Given the description of an element on the screen output the (x, y) to click on. 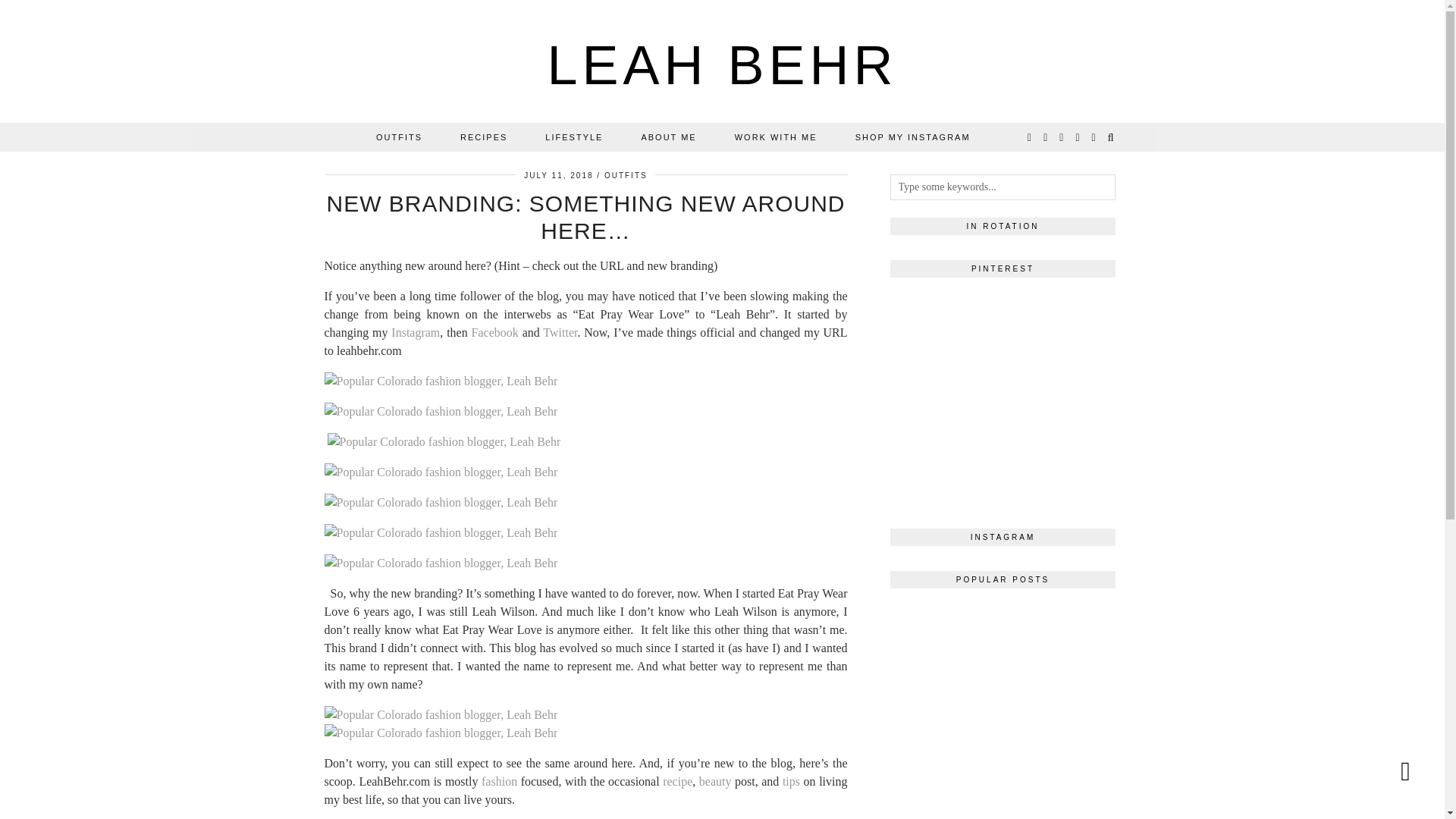
recipe (677, 780)
tips (791, 780)
pinterest (1077, 136)
fashion (498, 780)
Twitter (559, 332)
Leah Behr (721, 65)
ABOUT ME (667, 136)
beauty (715, 780)
facebook (1061, 136)
instagram (1045, 136)
Search (1111, 136)
Facebook (494, 332)
Instagram (415, 332)
OUTFITS (625, 175)
twitter (1029, 136)
